Given the description of an element on the screen output the (x, y) to click on. 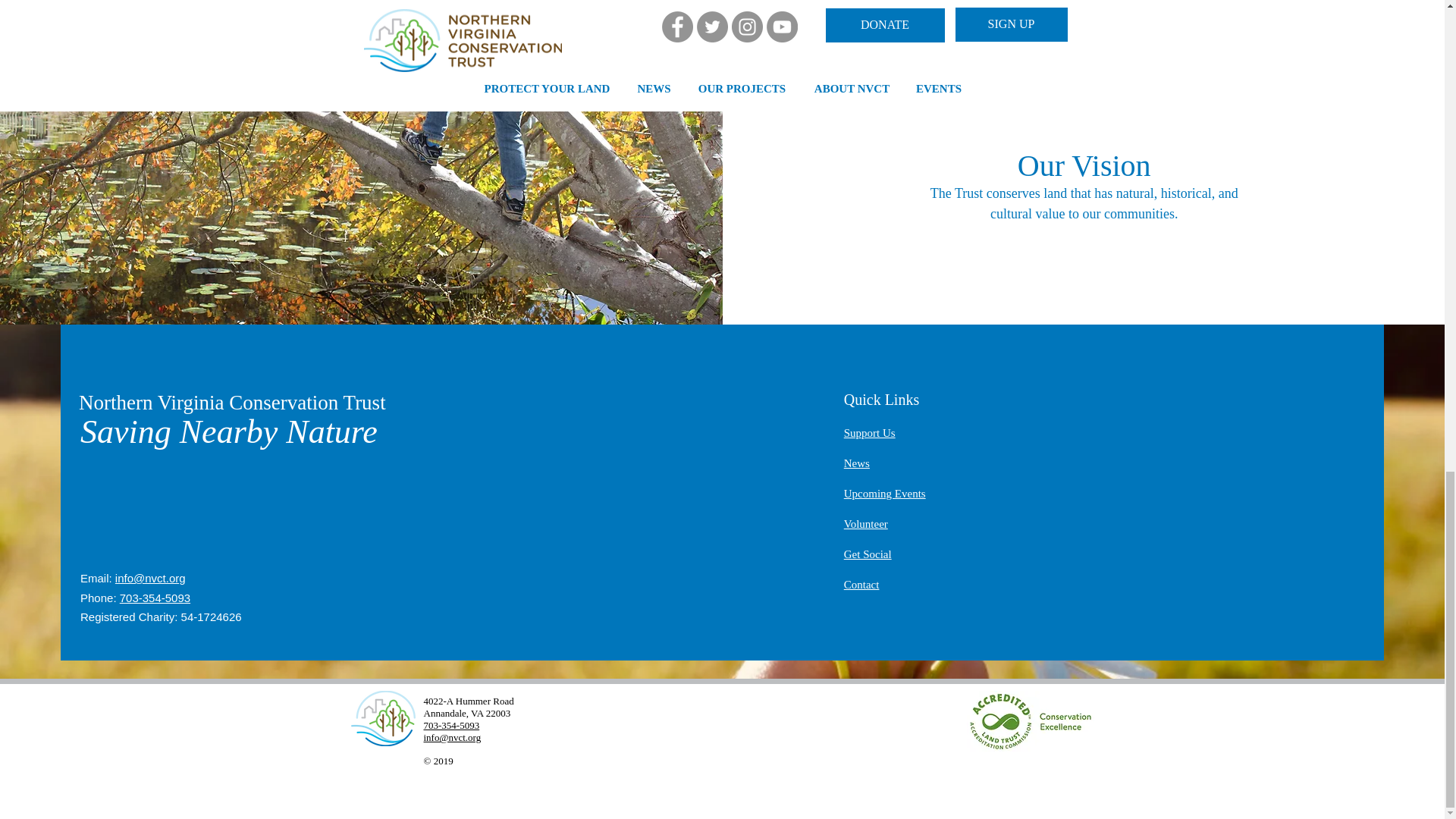
Contact (861, 584)
Upcoming Events (885, 493)
News (856, 463)
Get Social (867, 553)
703-354-5093 (451, 725)
703-354-5093 (154, 597)
Support Us (869, 432)
Volunteer (866, 523)
